Given the description of an element on the screen output the (x, y) to click on. 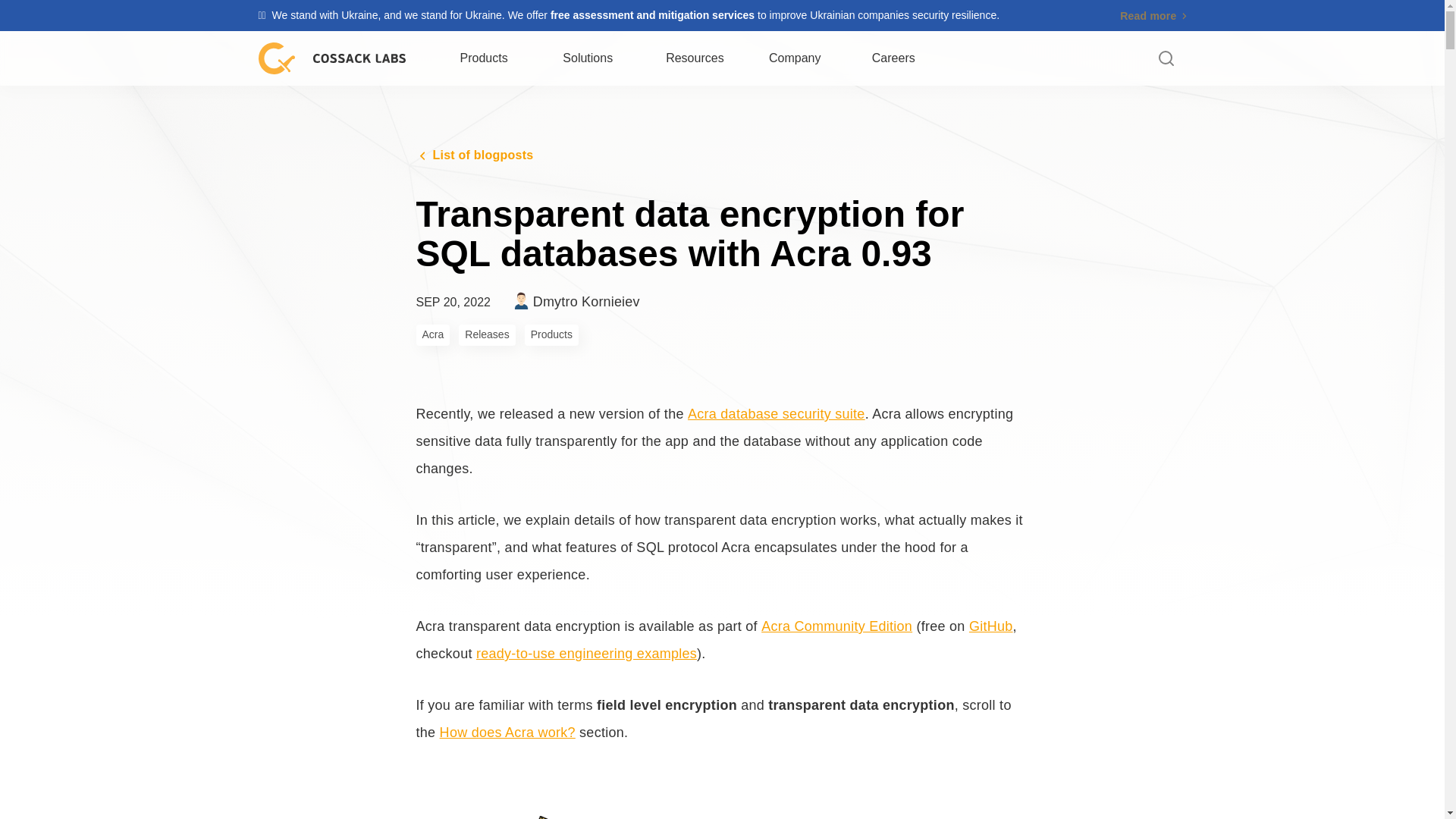
Solutions (587, 58)
Products (485, 58)
Resources (1152, 15)
Company (696, 58)
